Given the description of an element on the screen output the (x, y) to click on. 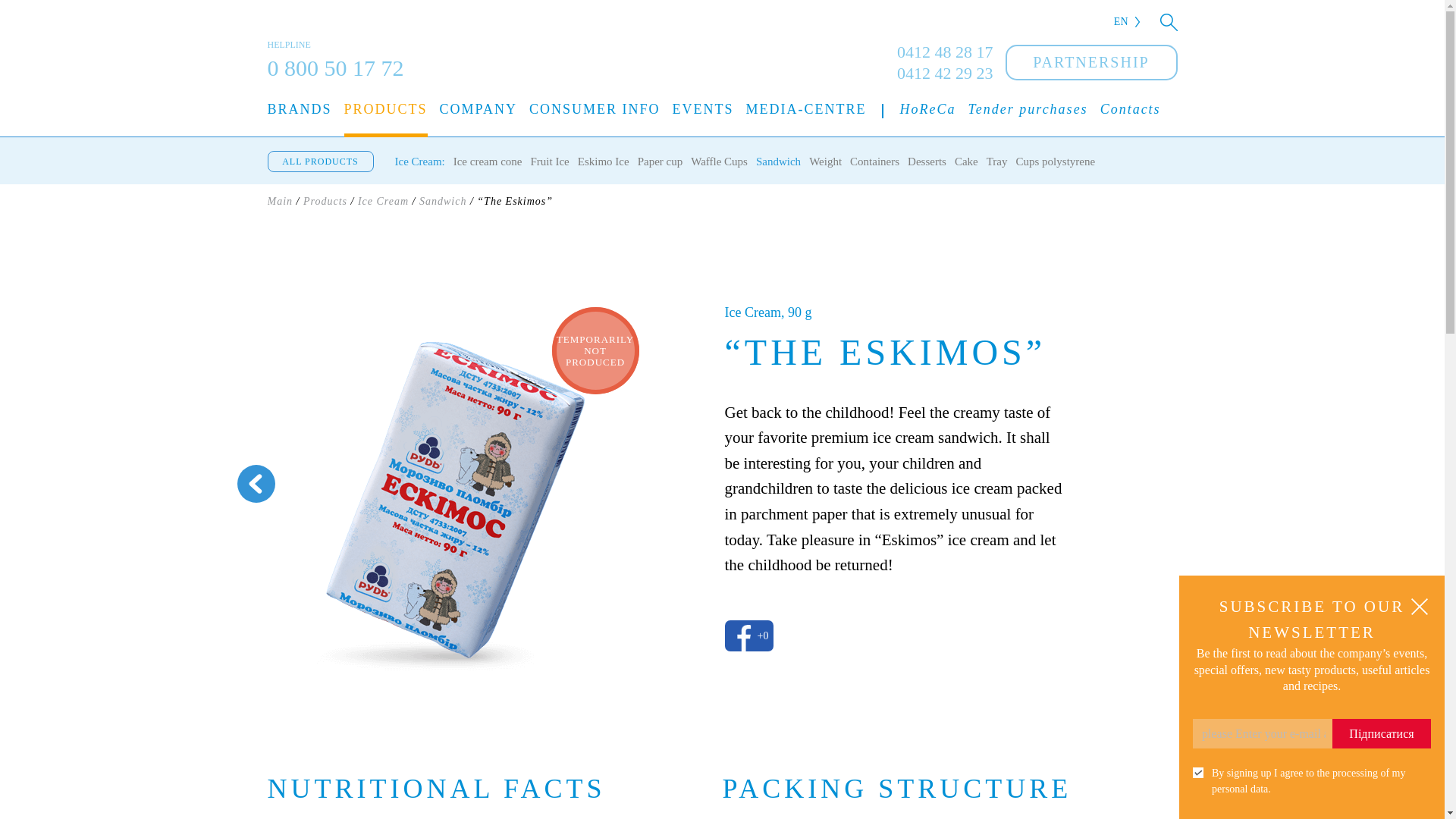
BRANDS (298, 117)
COMPANY (477, 117)
Waffle Cups (719, 161)
Contacts (1130, 117)
ALL PRODUCTS (319, 160)
PRODUCTS (385, 117)
PARTNERSHIP (1091, 62)
HoReCa (927, 117)
Share link on Facebook (749, 635)
CONSUMER INFO (595, 117)
EVENTS (702, 117)
0412 42 29 23 (944, 73)
Weight (825, 161)
Ice cream cone (487, 161)
Tender purchases (1027, 117)
